Given the description of an element on the screen output the (x, y) to click on. 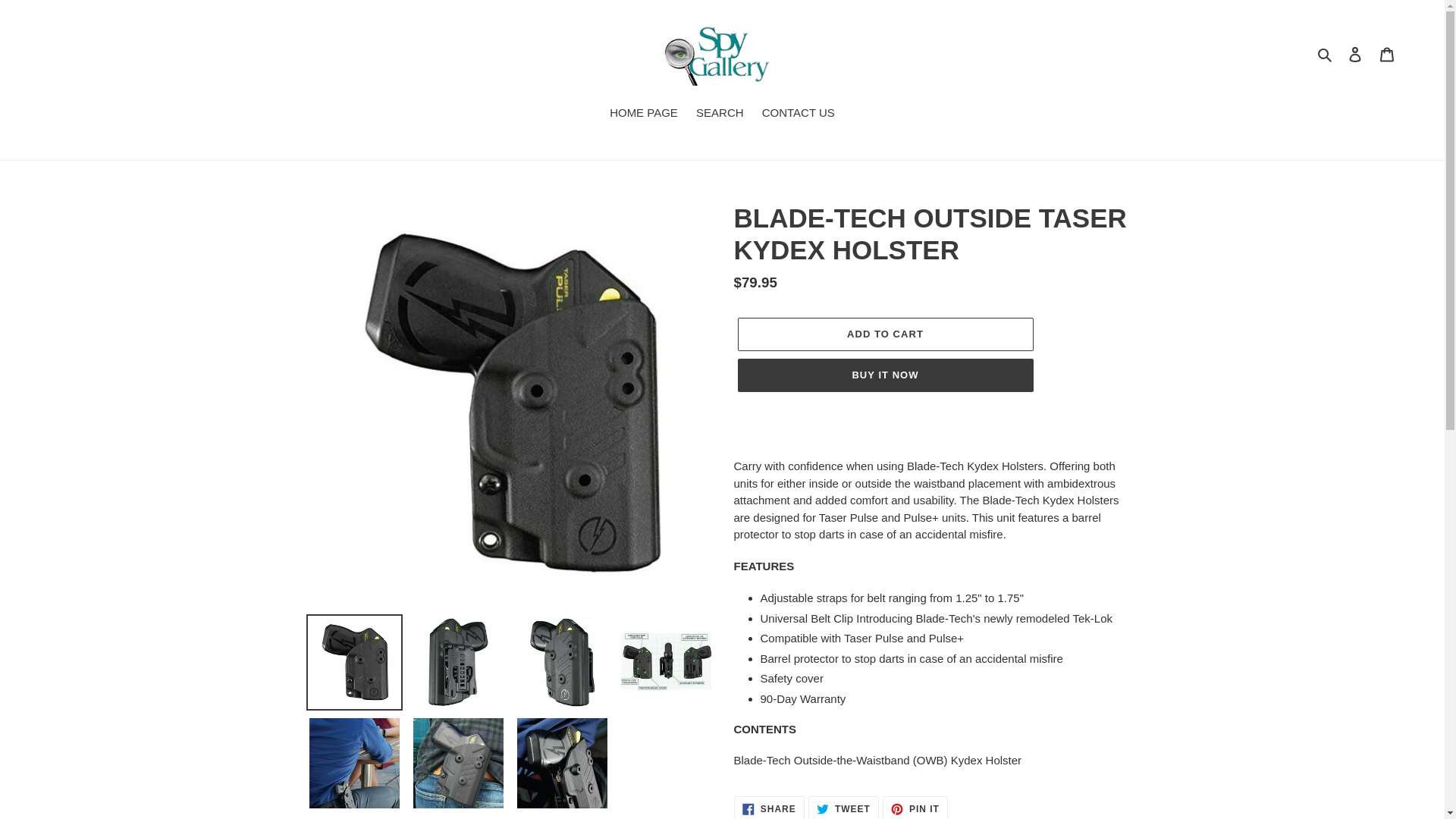
SEARCH (719, 114)
CONTACT US (798, 114)
Log in (1355, 53)
Cart (1387, 53)
ADD TO CART (914, 807)
HOME PAGE (843, 807)
Search (884, 334)
